Given the description of an element on the screen output the (x, y) to click on. 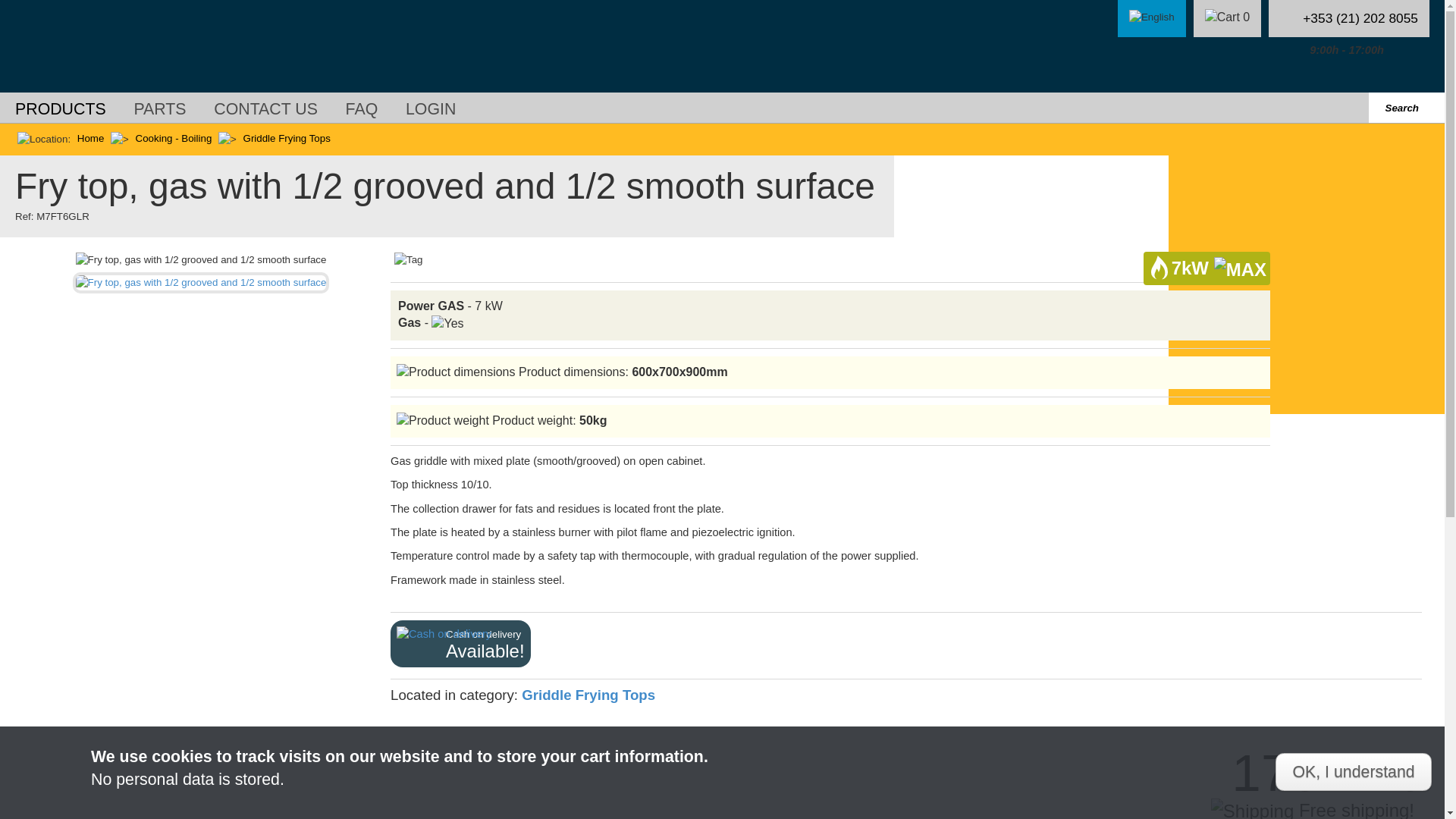
PRODUCTS (60, 110)
Cooking - Boiling (173, 138)
Griddle Frying Tops (286, 138)
PARTS (159, 110)
Griddle Frying Tops (588, 694)
CONTACT US (265, 110)
FAQ (362, 110)
Home (460, 643)
LOGIN (90, 138)
OK, I understand (430, 110)
